Given the description of an element on the screen output the (x, y) to click on. 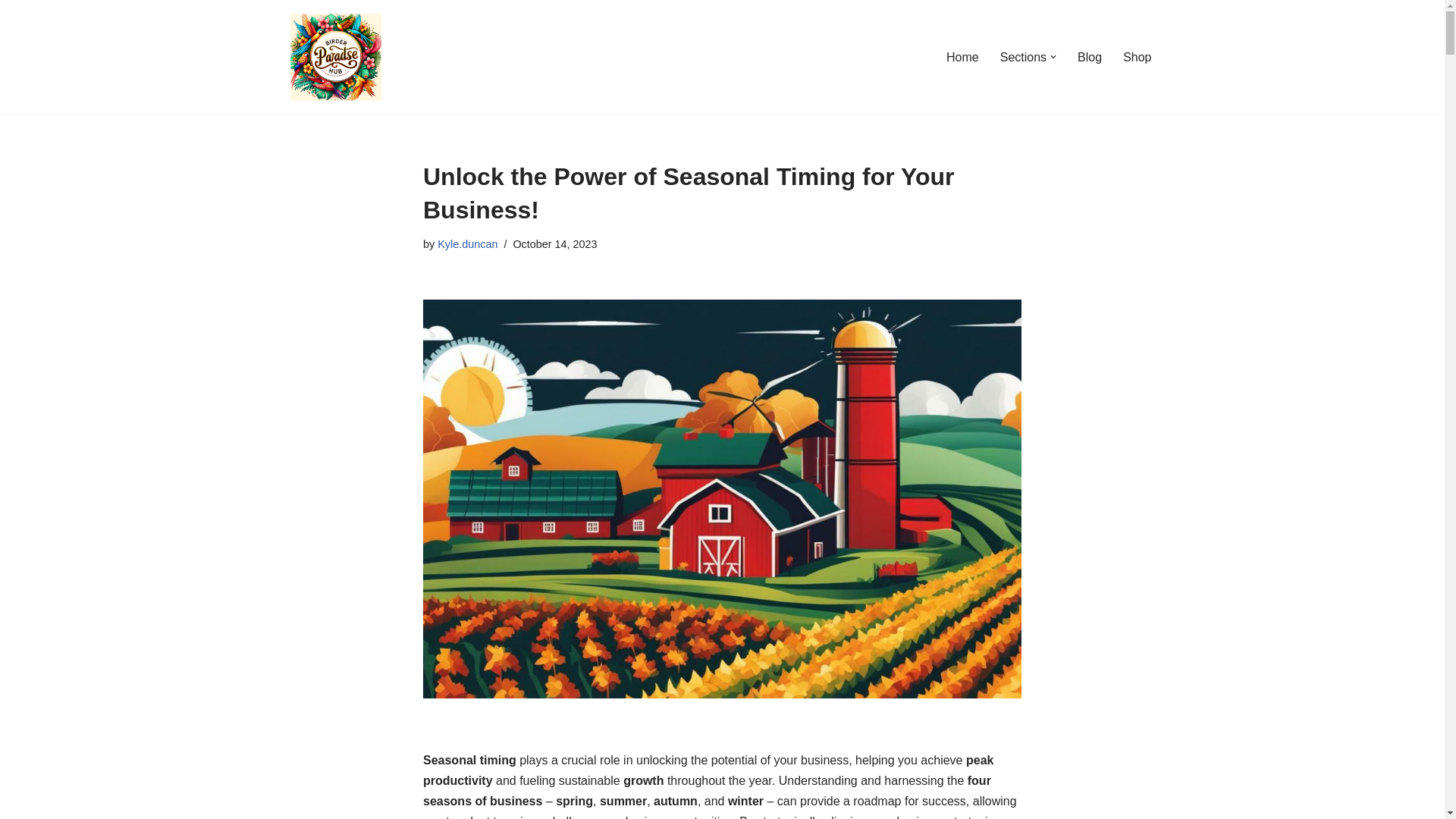
Blog (1089, 56)
Kyle.duncan (467, 244)
Shop (1136, 56)
Skip to content (11, 31)
Posts by Kyle.duncan (467, 244)
Sections (1023, 56)
Home (962, 56)
